Given the description of an element on the screen output the (x, y) to click on. 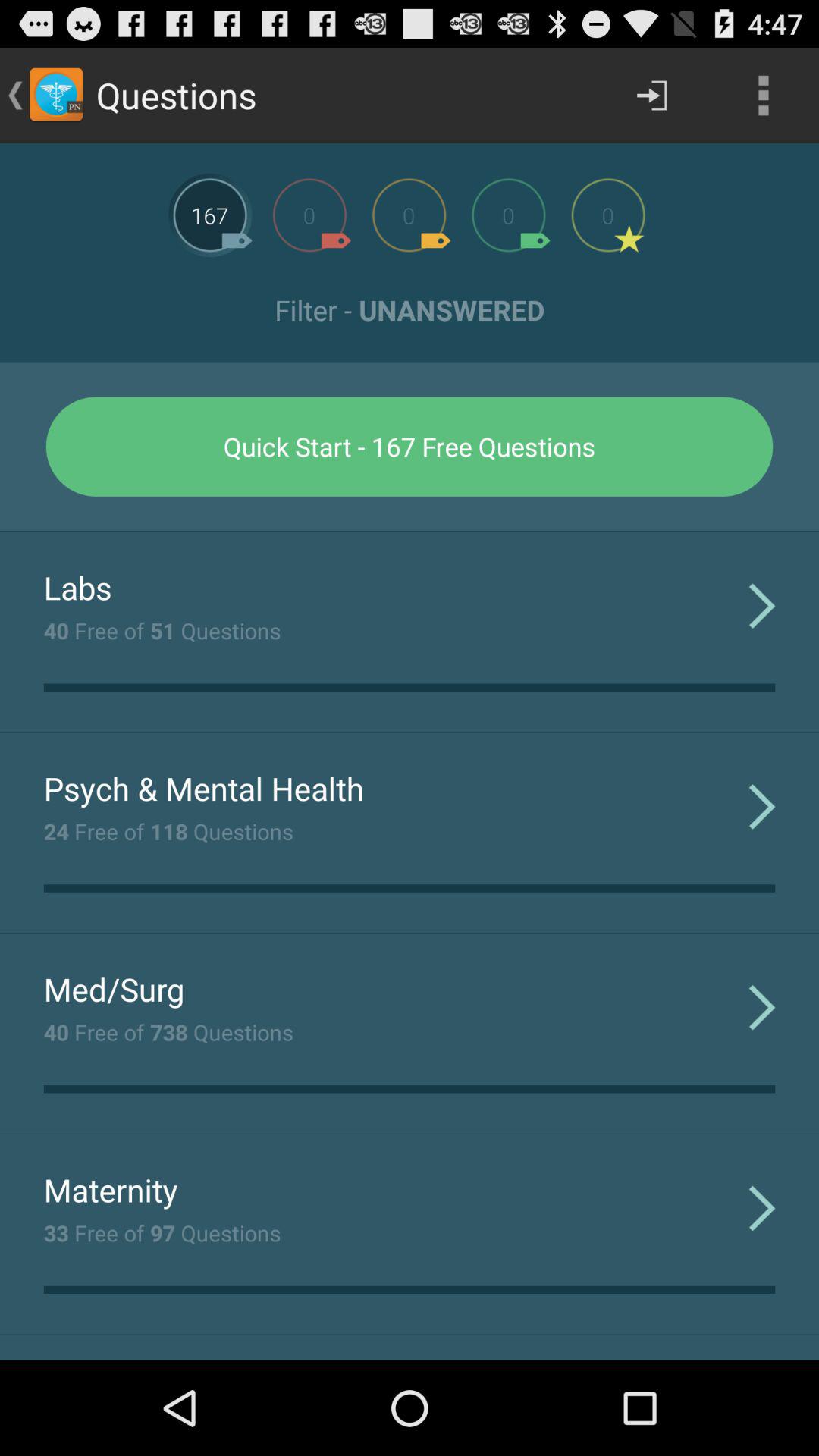
press the item above the 40 free of icon (113, 988)
